Given the description of an element on the screen output the (x, y) to click on. 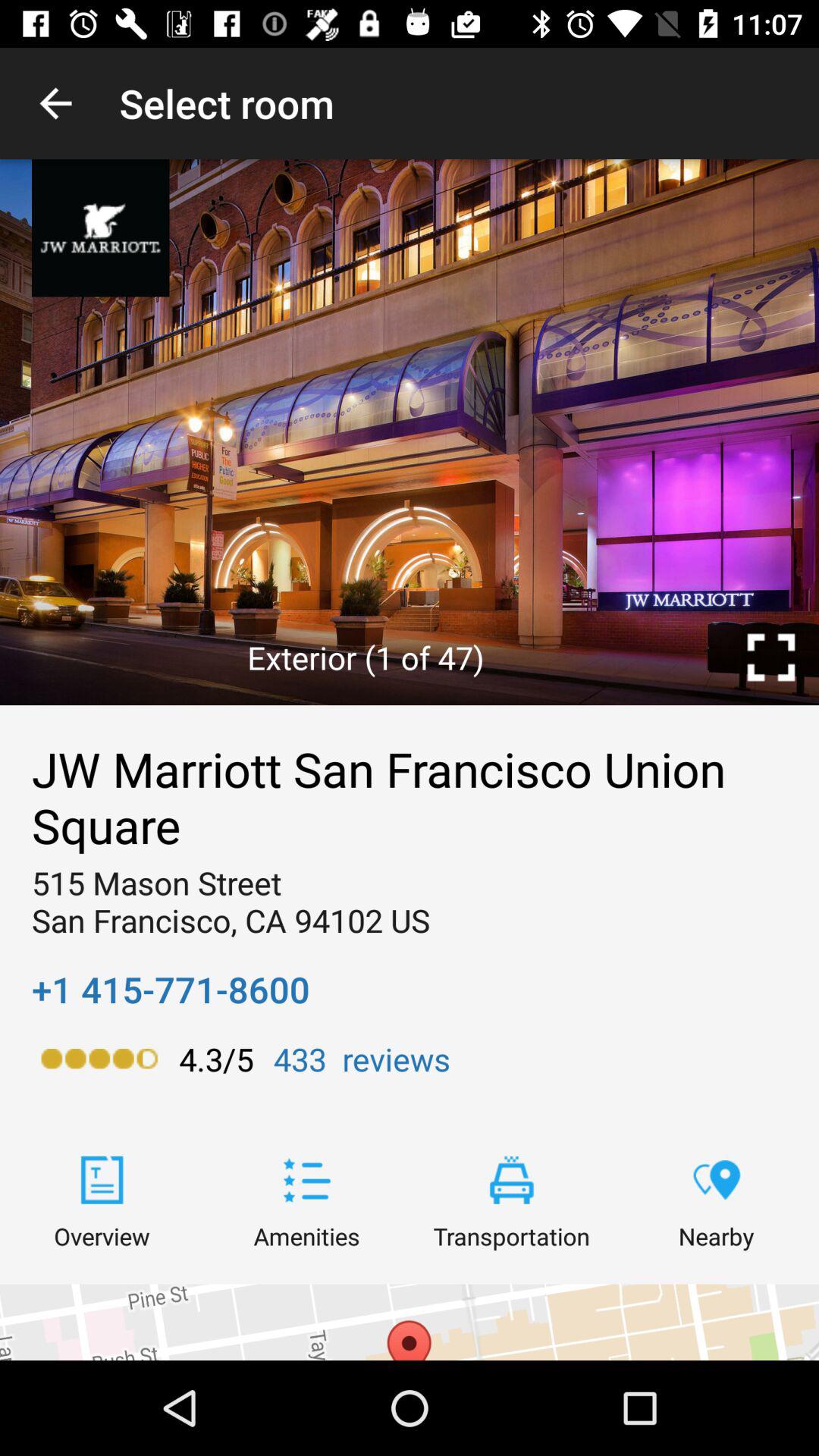
turn off the 1 415 771 icon (170, 989)
